Given the description of an element on the screen output the (x, y) to click on. 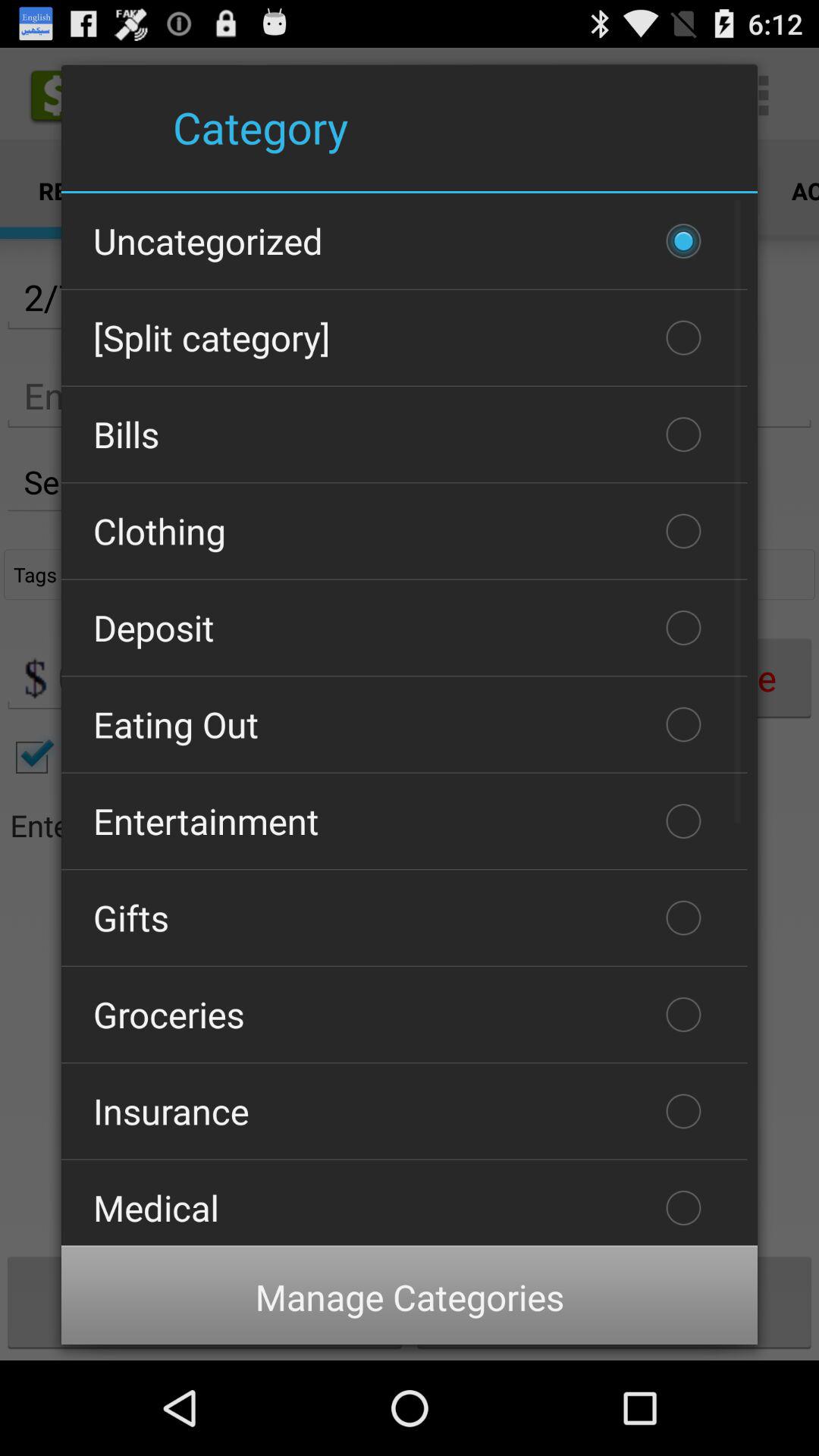
press the item above the deposit item (404, 530)
